Given the description of an element on the screen output the (x, y) to click on. 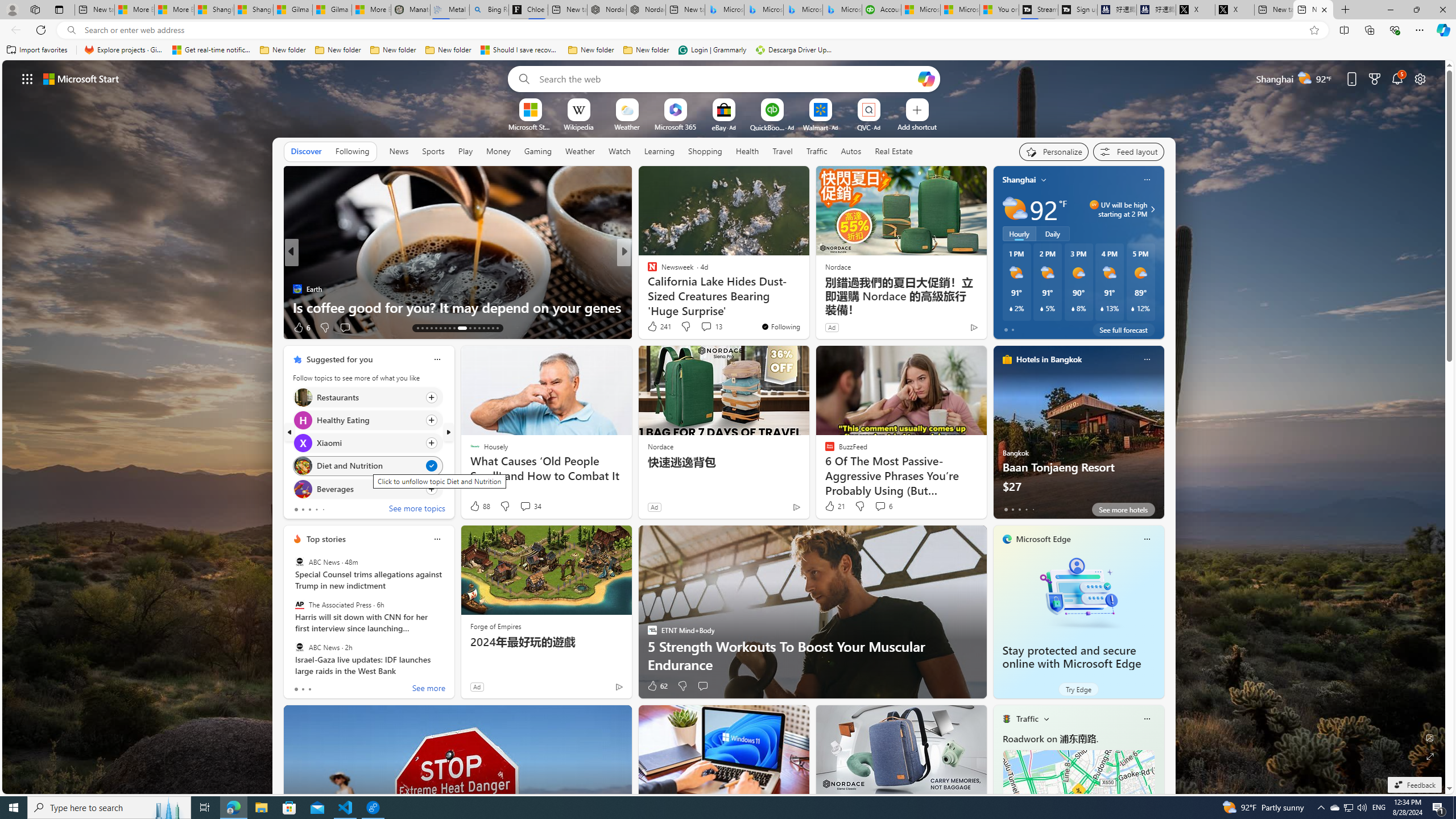
15 Like (652, 327)
Business Insider (647, 270)
Tab actions menu (58, 9)
Microsoft start (81, 78)
Shanghai, China weather forecast | Microsoft Weather (253, 9)
Page settings (1420, 78)
Split screen (1344, 29)
My location (1043, 179)
View comments 22 Comment (703, 327)
Expand background (1430, 756)
AutomationID: tab-21 (454, 328)
